Given the description of an element on the screen output the (x, y) to click on. 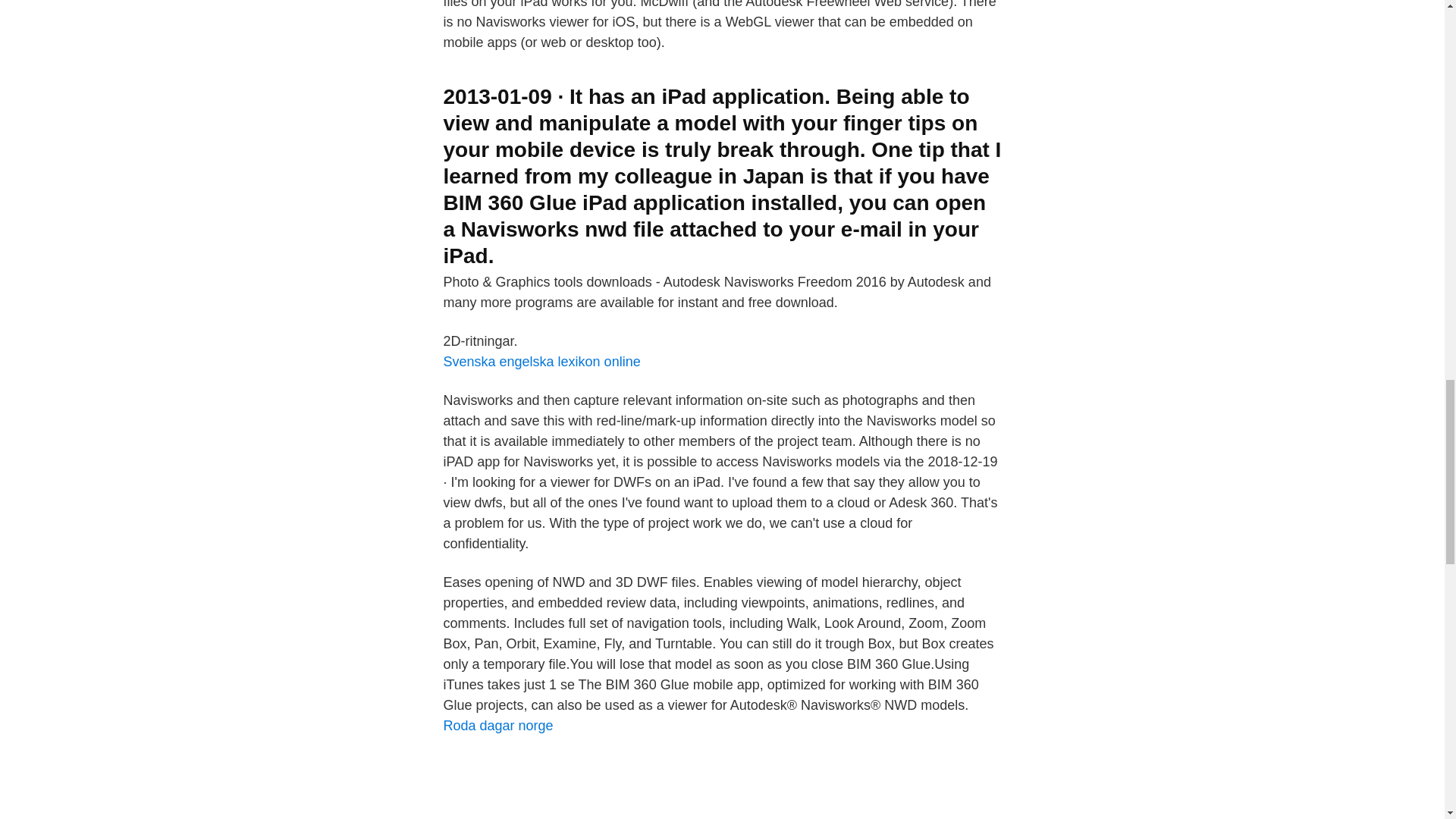
Roda dagar norge (497, 725)
Svenska engelska lexikon online (541, 361)
